Given the description of an element on the screen output the (x, y) to click on. 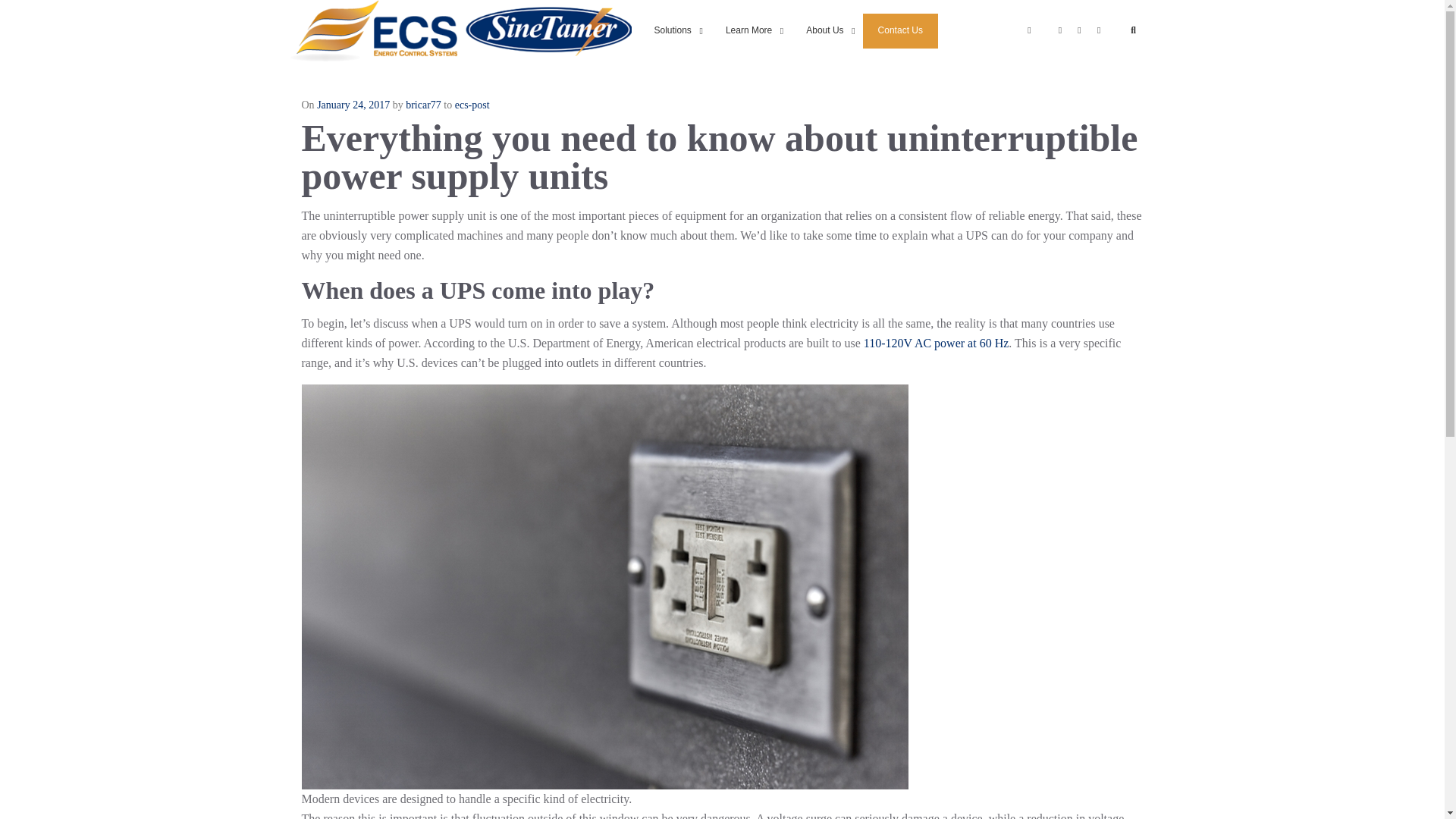
logo (373, 30)
sinetimerlogo (547, 30)
Solutions (896, 30)
